Given the description of an element on the screen output the (x, y) to click on. 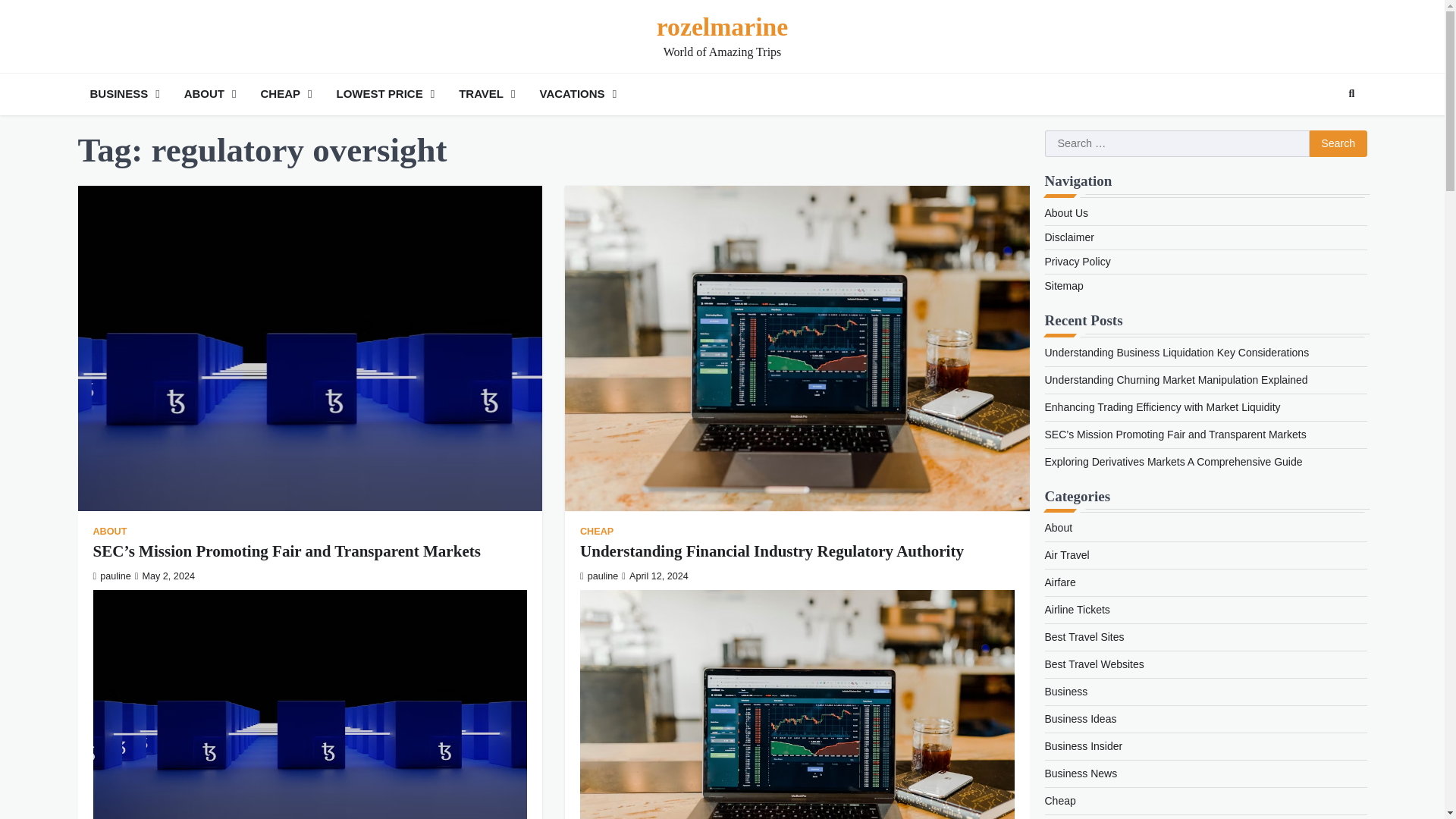
Search (1337, 144)
CHEAP (285, 94)
Search (1337, 144)
Search (1351, 93)
VACATIONS (578, 94)
BUSINESS (123, 94)
LOWEST PRICE (385, 94)
rozelmarine (722, 26)
ABOUT (210, 94)
TRAVEL (486, 94)
Search (1323, 129)
